Given the description of an element on the screen output the (x, y) to click on. 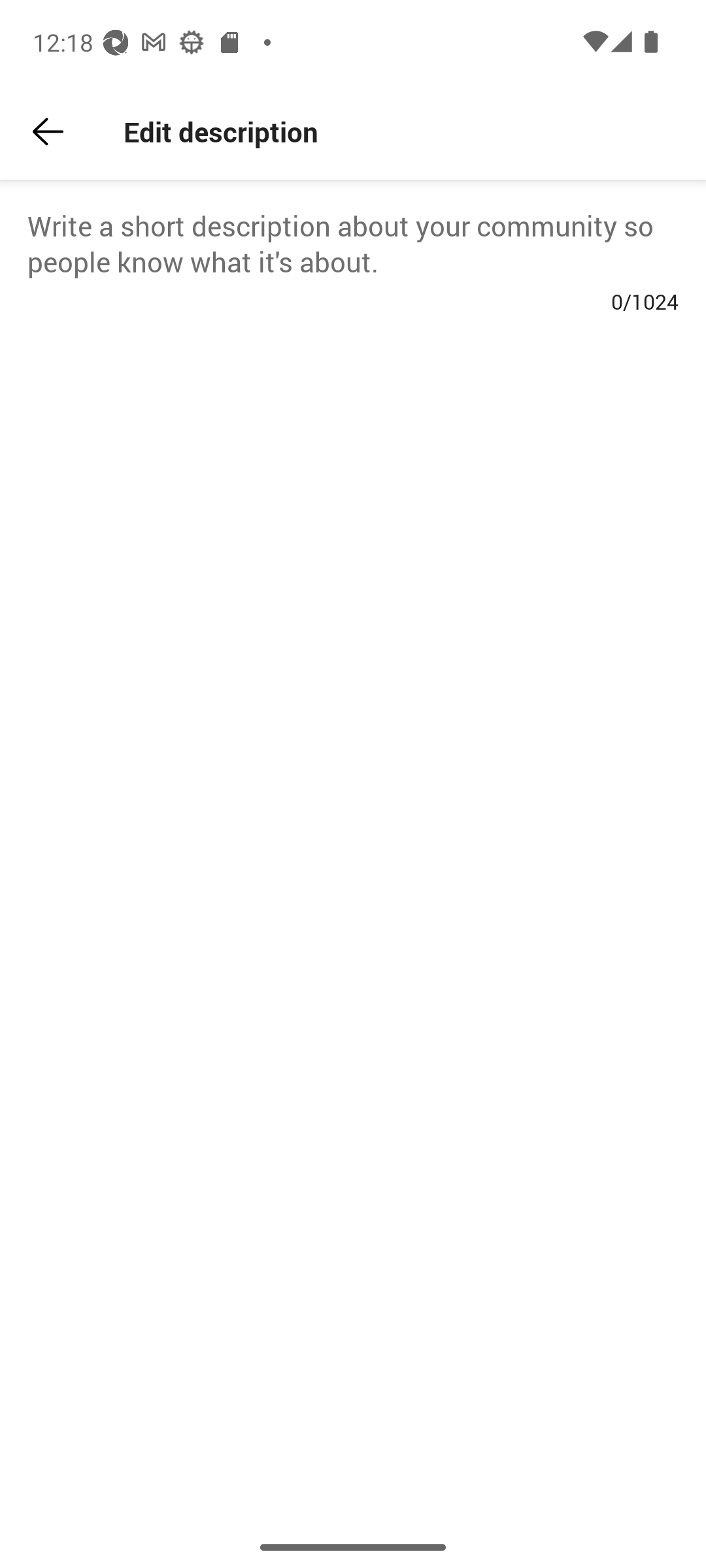
Back (48, 131)
